Given the description of an element on the screen output the (x, y) to click on. 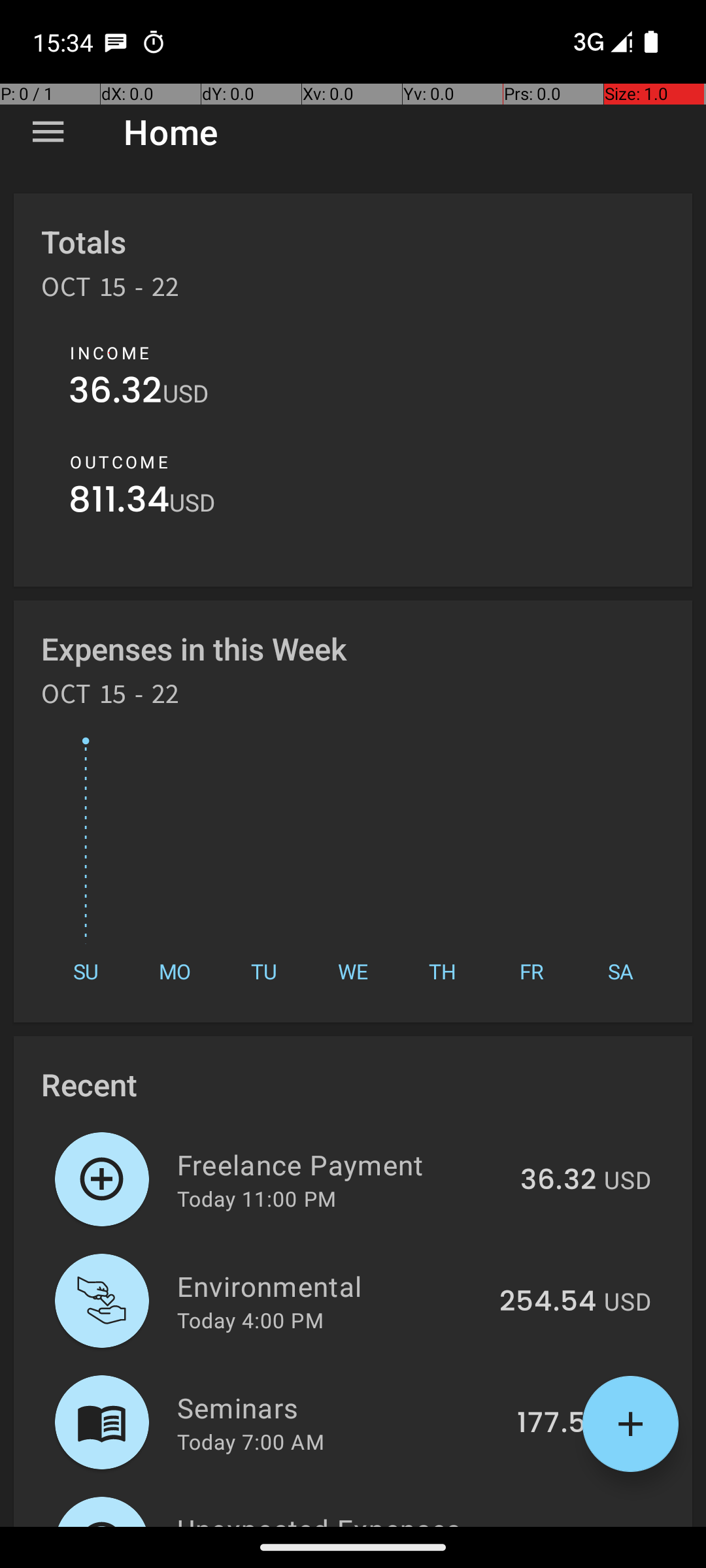
36.32 Element type: android.widget.TextView (115, 393)
811.34 Element type: android.widget.TextView (118, 502)
Environmental Element type: android.widget.TextView (330, 1285)
254.54 Element type: android.widget.TextView (547, 1301)
Today 7:00 AM Element type: android.widget.TextView (250, 1441)
177.51 Element type: android.widget.TextView (556, 1423)
Unexpected Expenses Element type: android.widget.TextView (332, 1518)
379.29 Element type: android.widget.TextView (549, 1524)
